Given the description of an element on the screen output the (x, y) to click on. 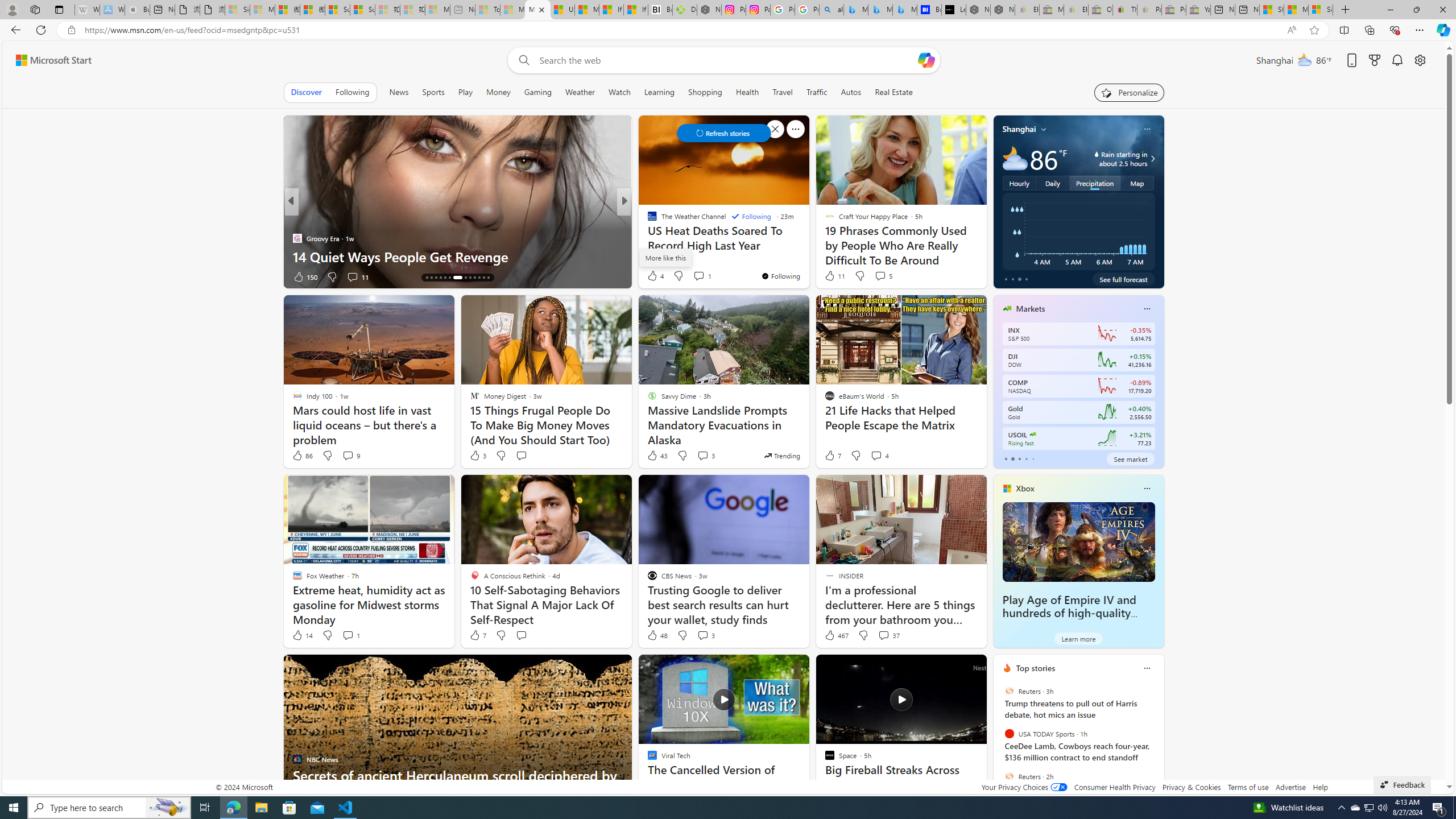
Buy iPad - Apple - Sleeping (136, 9)
48 Like (657, 634)
Sports (432, 92)
View comments 5 Comment (882, 275)
View comments 3 Comment (705, 634)
View comments 37 Comment (888, 634)
Play (465, 92)
467 Like (835, 634)
Microsoft Start (1296, 9)
Hide this story (952, 668)
Daily (1052, 183)
USA TODAY Sports (1008, 733)
View comments 5 Comment (879, 275)
Open Copilot (926, 59)
